Given the description of an element on the screen output the (x, y) to click on. 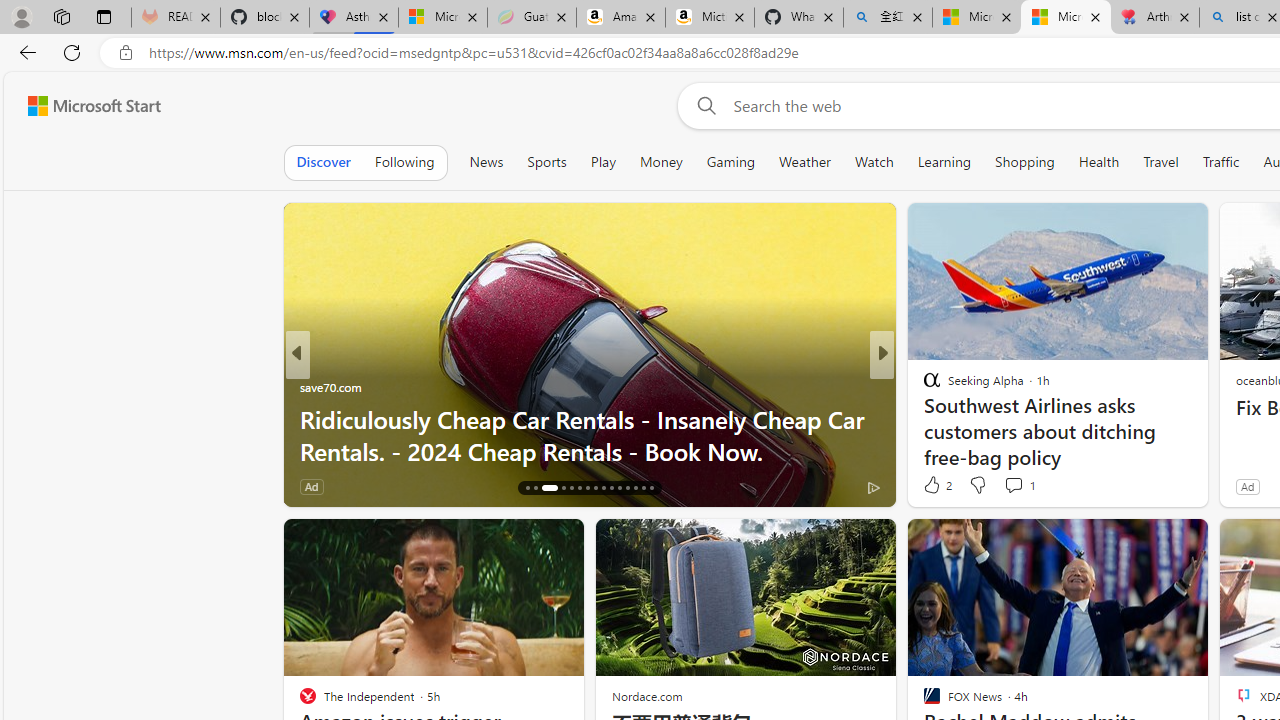
Gaming (730, 161)
Discover (323, 161)
Watch (874, 162)
View comments 1 Comment (1013, 485)
AutomationID: tab-21 (578, 487)
Arthritis: Ask Health Professionals (1155, 17)
Inverse (923, 386)
View comments 3 Comment (1014, 485)
View comments 3 Comment (1019, 486)
AutomationID: tab-19 (557, 487)
Following (404, 162)
Ad (1247, 486)
